Given the description of an element on the screen output the (x, y) to click on. 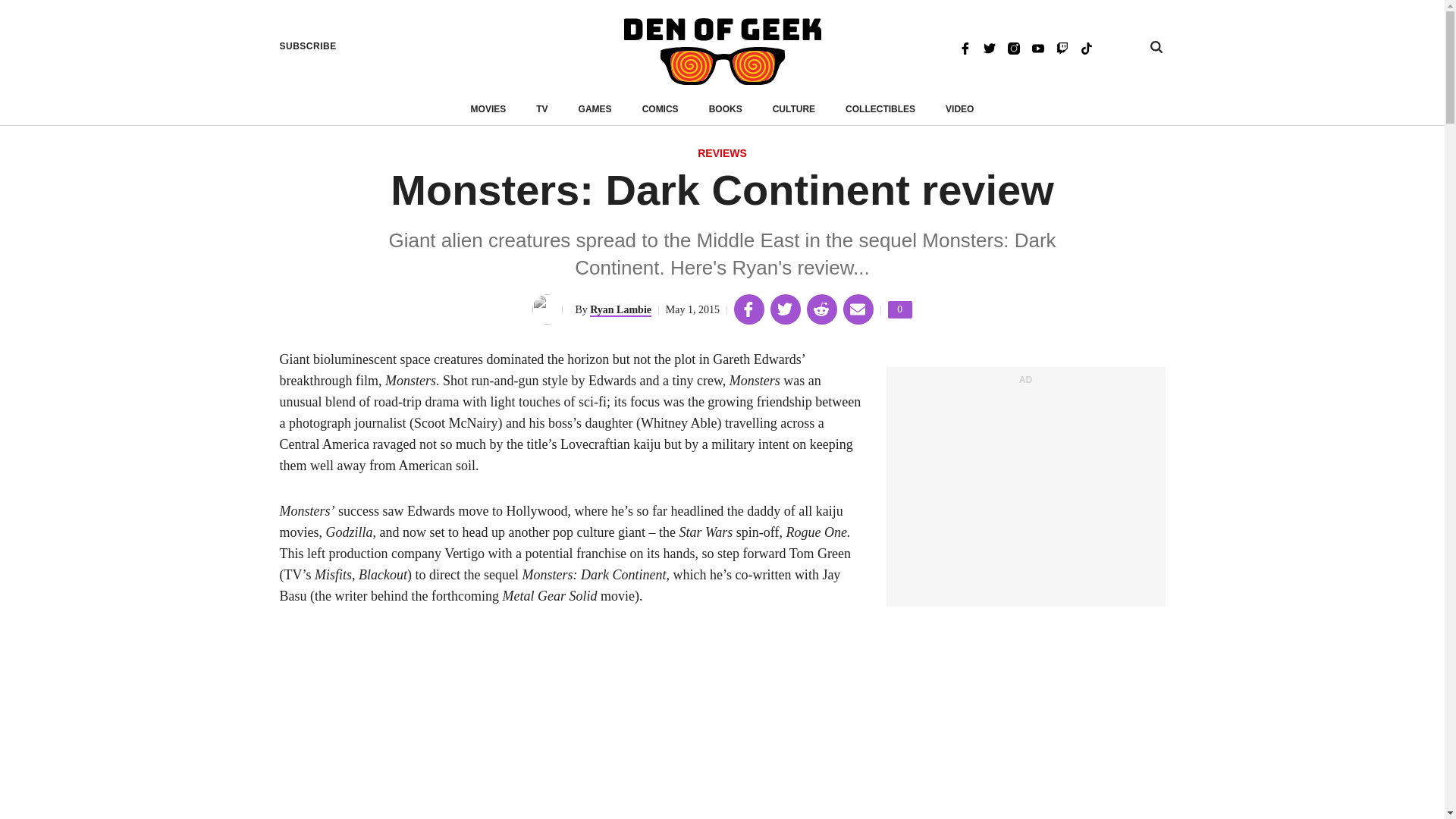
COMICS (660, 109)
BOOKS (725, 109)
Ryan Lambie (619, 309)
REVIEWS (721, 153)
COLLECTIBLES (880, 109)
Twitch (1061, 46)
VIDEO (959, 109)
Den of Geek (722, 52)
Instagram (1013, 46)
CULTURE (794, 109)
MOVIES (488, 109)
Twitter (988, 46)
TikTok (900, 309)
GAMES (1085, 46)
